Given the description of an element on the screen output the (x, y) to click on. 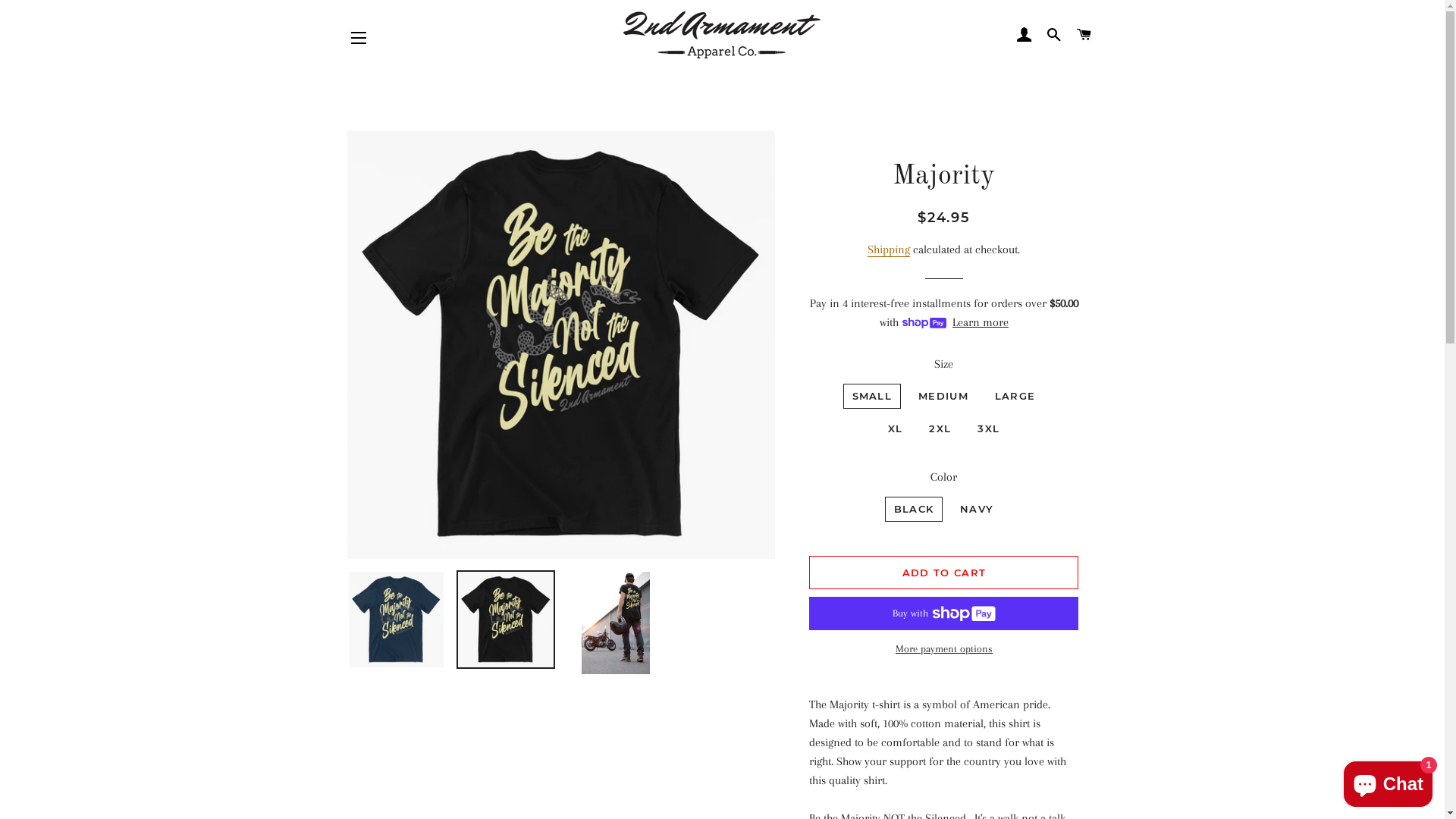
LOG IN Element type: text (1023, 34)
ADD TO CART Element type: text (943, 572)
SEARCH Element type: text (1054, 34)
CART Element type: text (1083, 34)
Shipping Element type: text (888, 249)
SITE NAVIGATION Element type: text (358, 37)
More payment options Element type: text (943, 648)
Shopify online store chat Element type: hover (1388, 780)
